Given the description of an element on the screen output the (x, y) to click on. 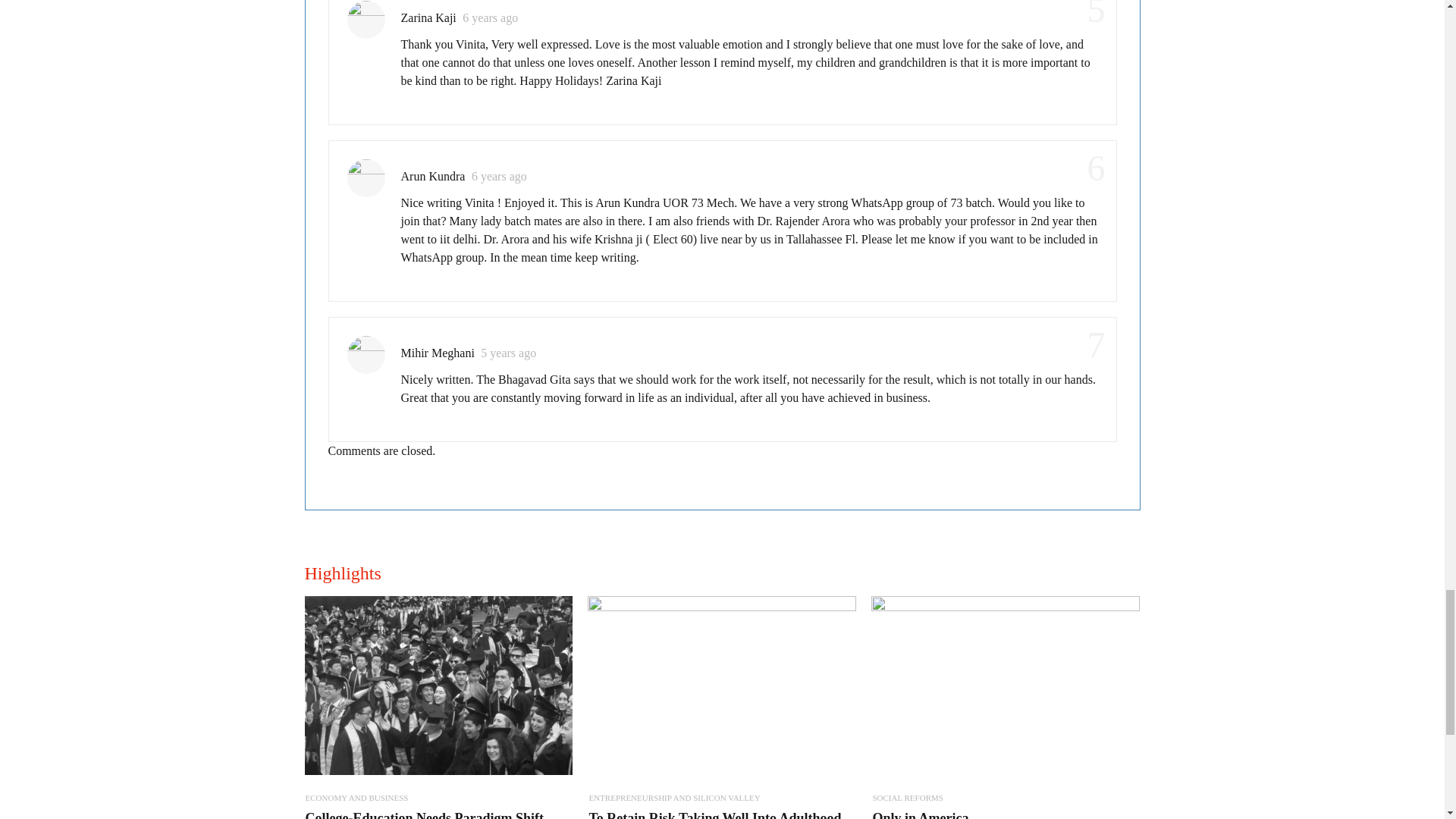
Only in America (920, 814)
View all posts in Economy And Business (355, 797)
College-Education Needs Paradigm Shift (423, 814)
View all posts in Entrepreneurship and Silicon Valley (674, 797)
View all posts in Social Reforms (907, 797)
